Given the description of an element on the screen output the (x, y) to click on. 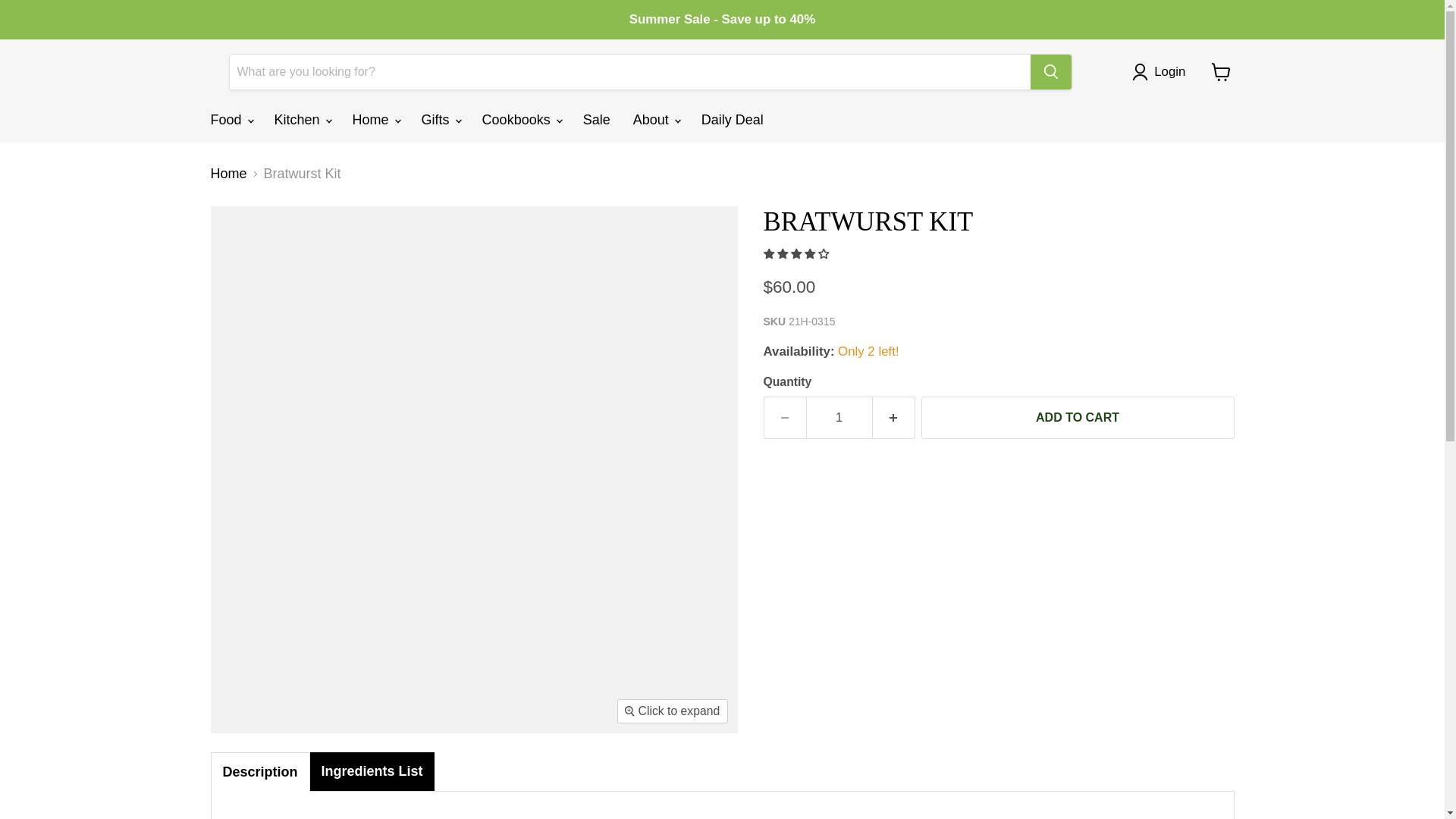
1 (838, 417)
Login (1162, 72)
View cart (1221, 71)
